Given the description of an element on the screen output the (x, y) to click on. 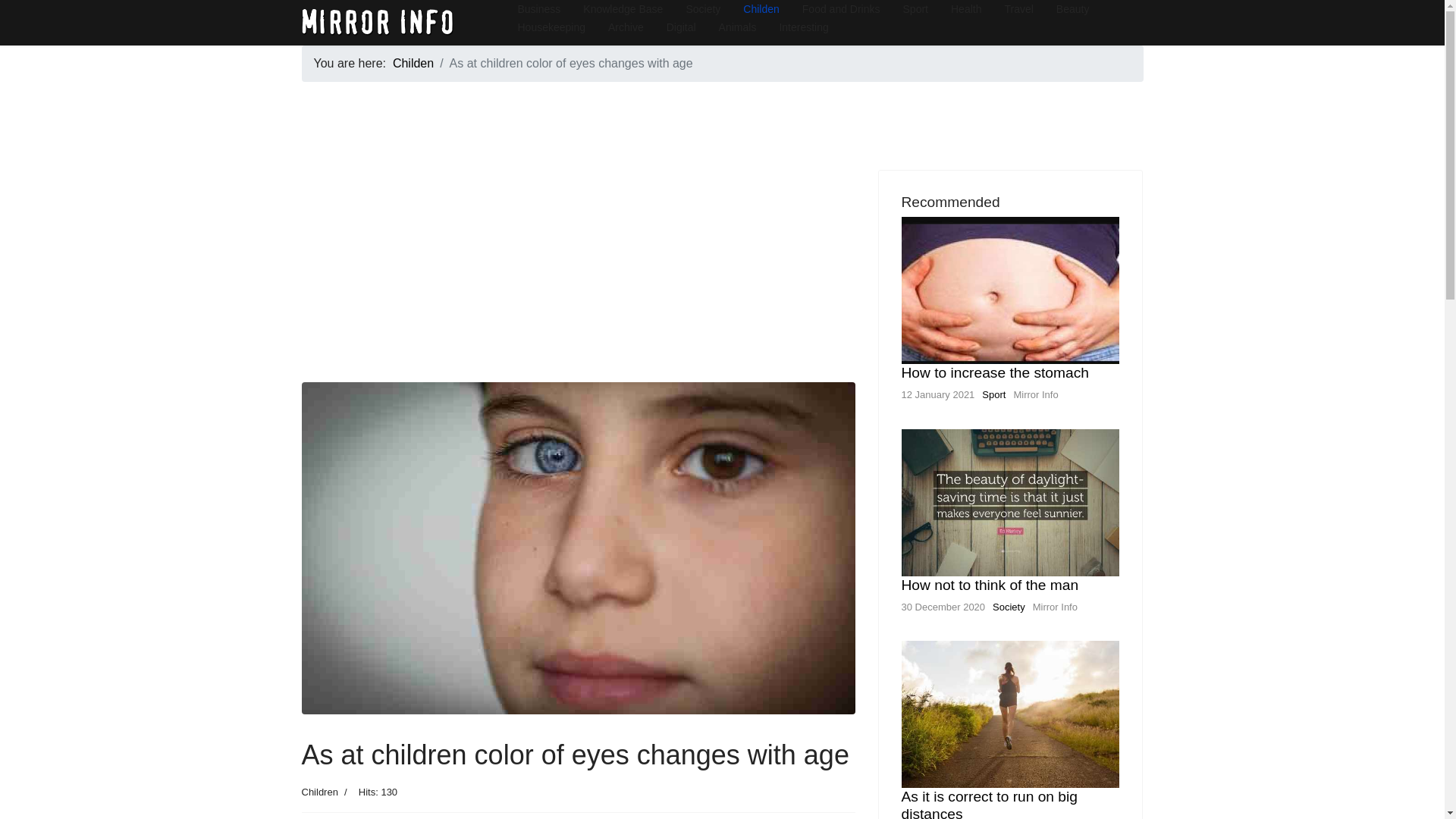
How not to think of the man (989, 584)
Children (319, 791)
Society (1008, 606)
As it is correct to run on big distances (989, 803)
Advertisement (578, 275)
Category: Children (319, 792)
Childen (413, 62)
How to increase the stomach (994, 372)
Sport (993, 394)
